Given the description of an element on the screen output the (x, y) to click on. 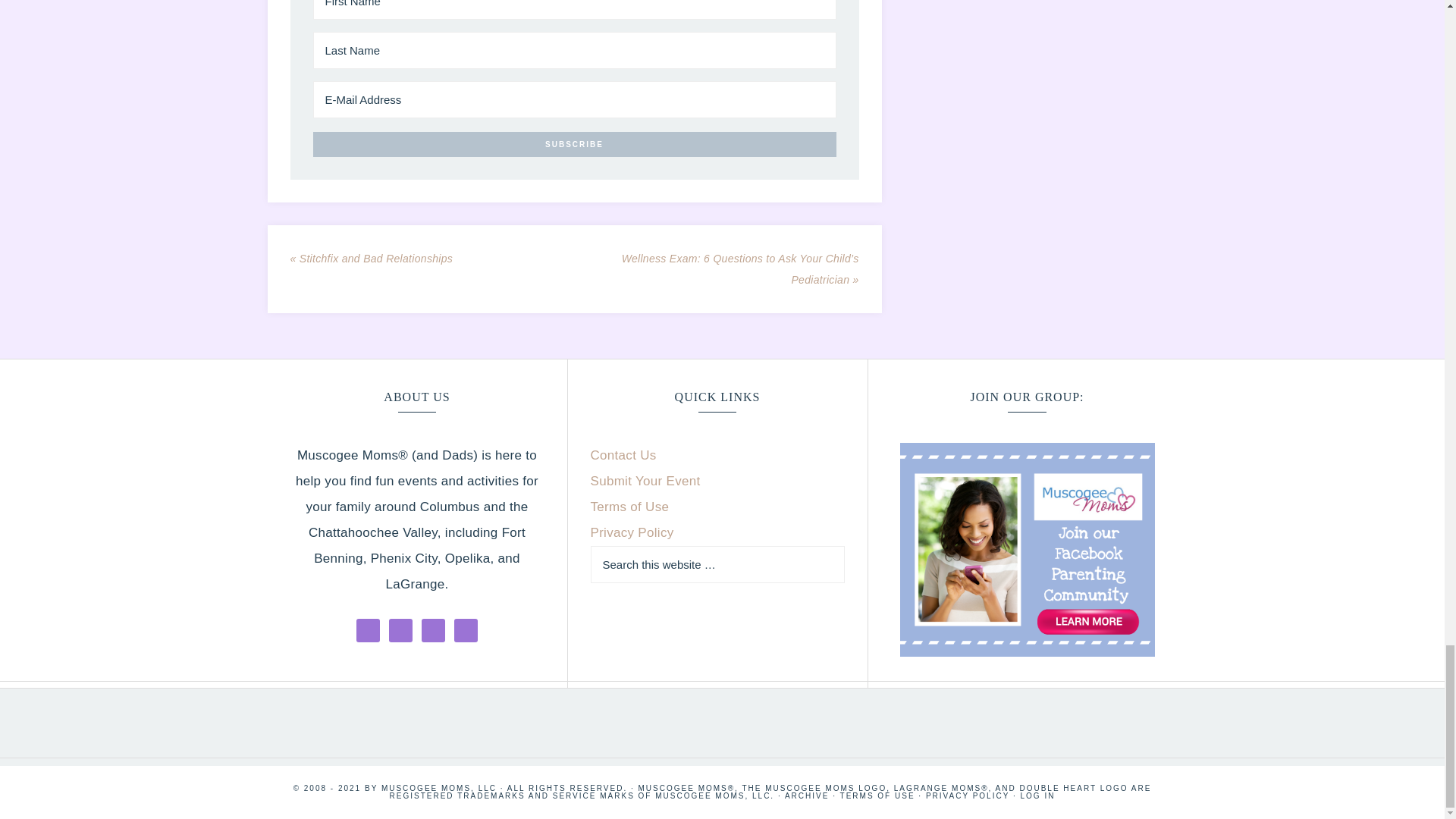
Subscribe (574, 144)
Terms of Use (628, 506)
Submit Your Event (644, 481)
Subscribe (574, 144)
Contact Us (622, 454)
